Given the description of an element on the screen output the (x, y) to click on. 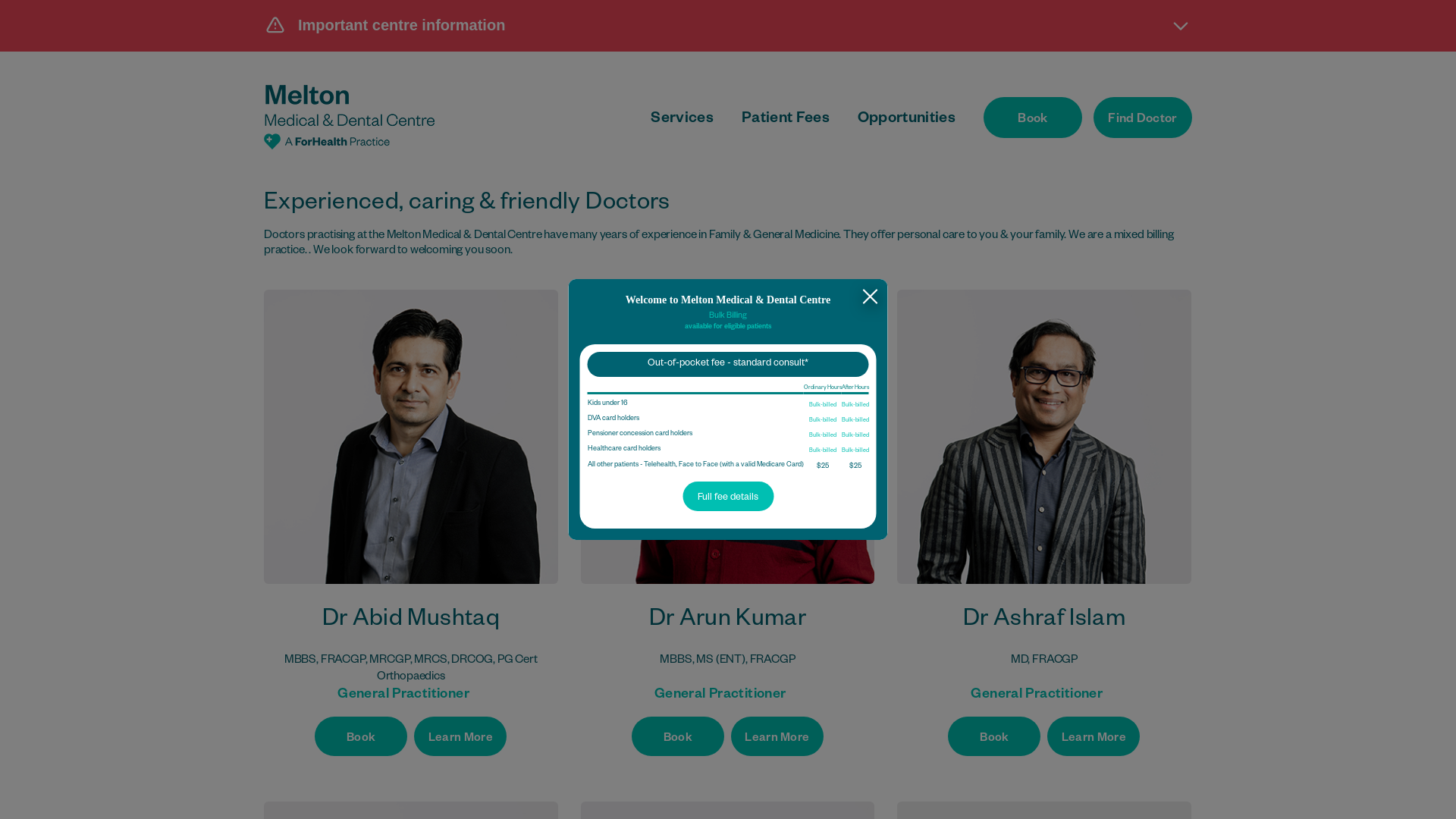
Services Element type: text (681, 119)
Dr Ashraf Islam Element type: hover (1044, 436)
Important centre information Element type: text (727, 24)
Learn More Element type: text (1093, 736)
Book Element type: text (360, 736)
Learn More Element type: text (460, 736)
Book Element type: text (677, 736)
Learn More Element type: text (777, 736)
Dr Arun Kumar Element type: text (727, 621)
Find Doctor Element type: text (1142, 117)
Patient Fees Element type: text (785, 119)
Opportunities Element type: text (906, 119)
Dr Abid Mushtaq Element type: hover (410, 436)
Full fee details Element type: text (727, 496)
Dr Abid Mushtaq Element type: text (410, 621)
Book Element type: text (1032, 117)
Book Element type: text (993, 736)
Dr Arun Kumar Element type: hover (727, 436)
Dr Ashraf Islam Element type: text (1044, 621)
Melton Medical & Dental Centre Element type: hover (348, 116)
